Given the description of an element on the screen output the (x, y) to click on. 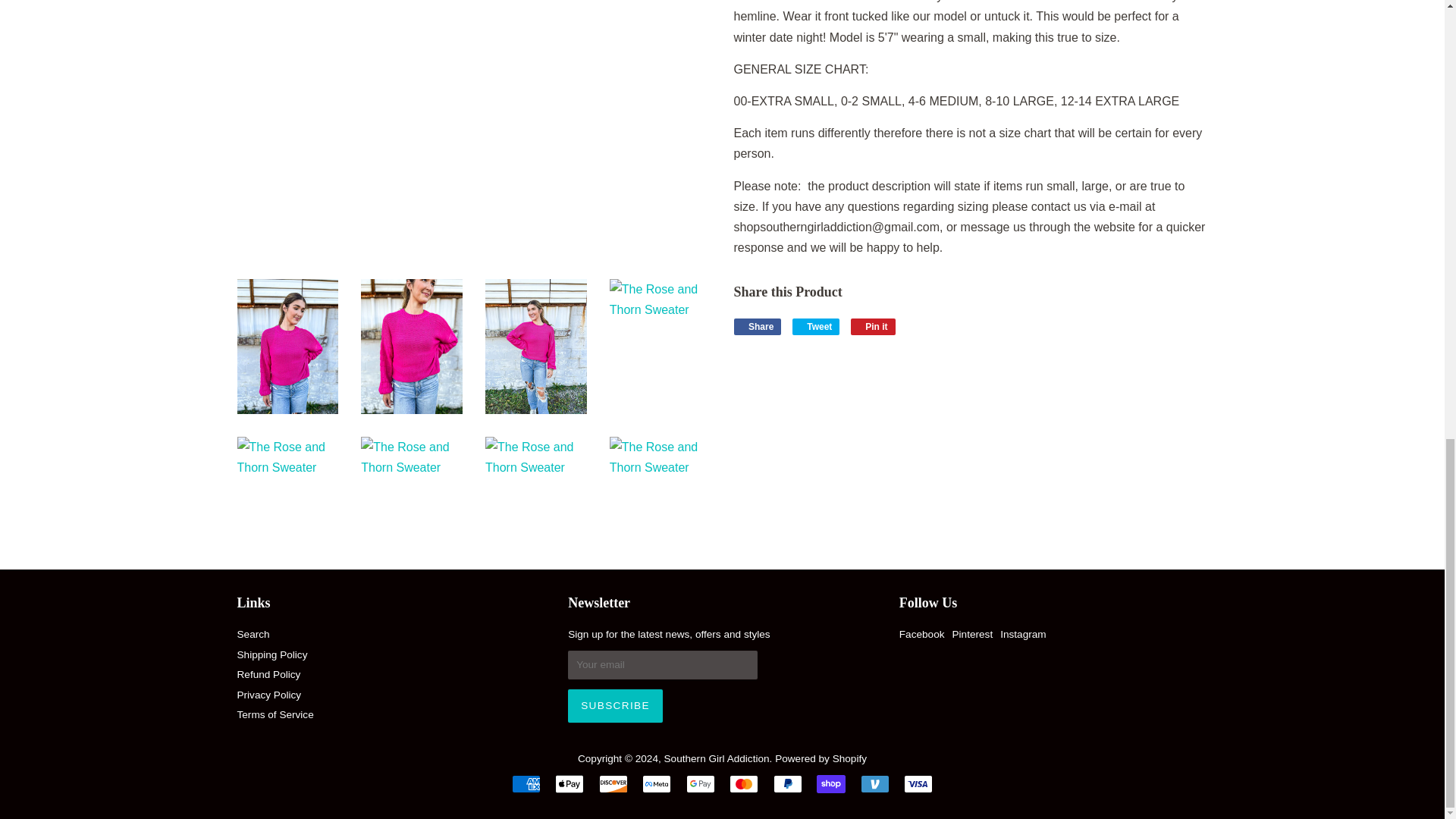
Southern Girl Addiction on Pinterest (972, 633)
Southern Girl Addiction on Instagram (1022, 633)
Share on Facebook (757, 326)
Subscribe (614, 705)
Google Pay (699, 783)
Visa (918, 783)
Discover (612, 783)
Shop Pay (830, 783)
Mastercard (743, 783)
Tweet on Twitter (816, 326)
